Given the description of an element on the screen output the (x, y) to click on. 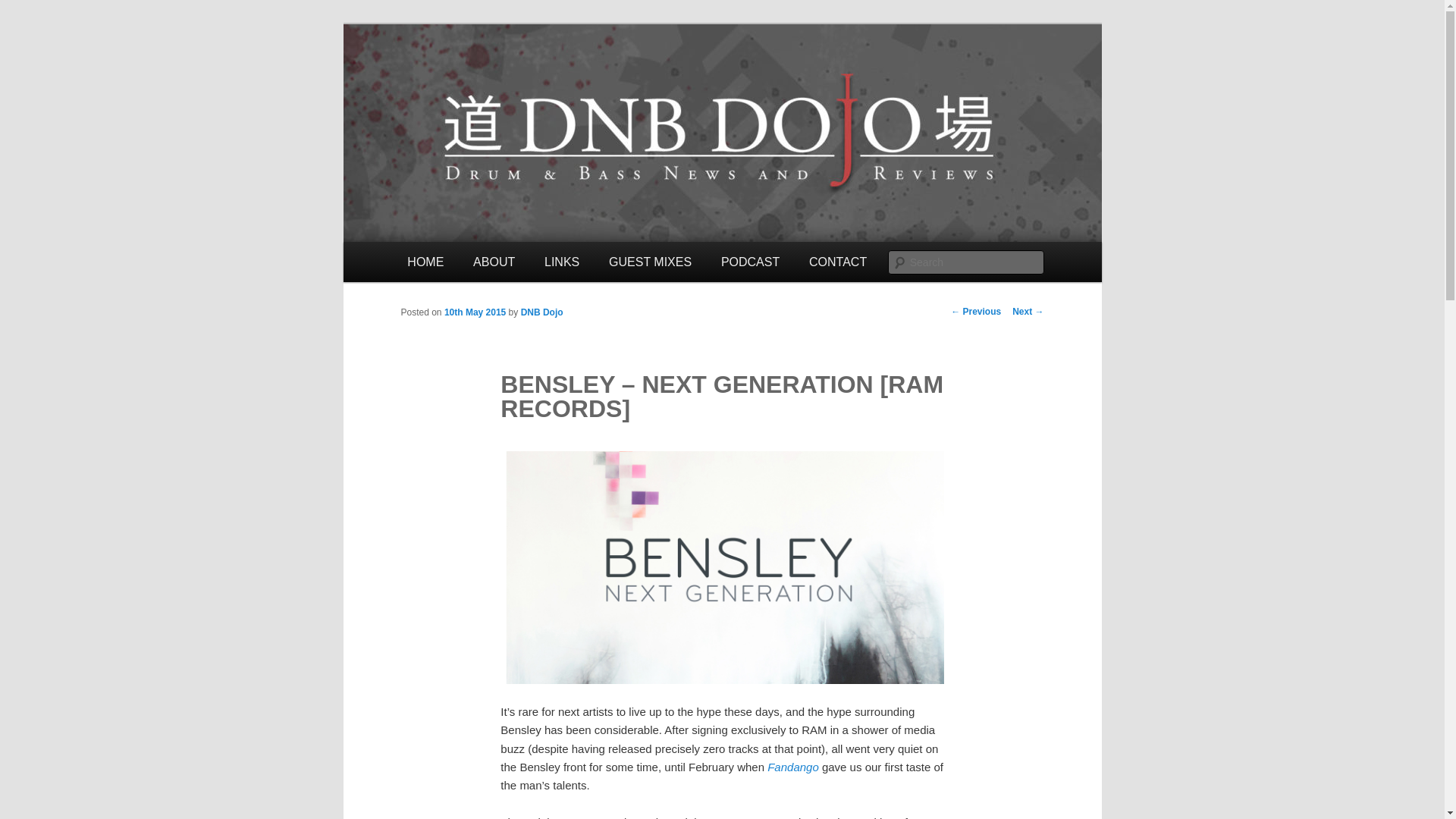
10th May 2015 (474, 312)
LINKS (561, 261)
PODCAST (750, 261)
GUEST MIXES (650, 261)
ABOUT (493, 261)
CONTACT (838, 261)
Fandango (792, 766)
DNB Dojo (542, 312)
Search (24, 8)
